Given the description of an element on the screen output the (x, y) to click on. 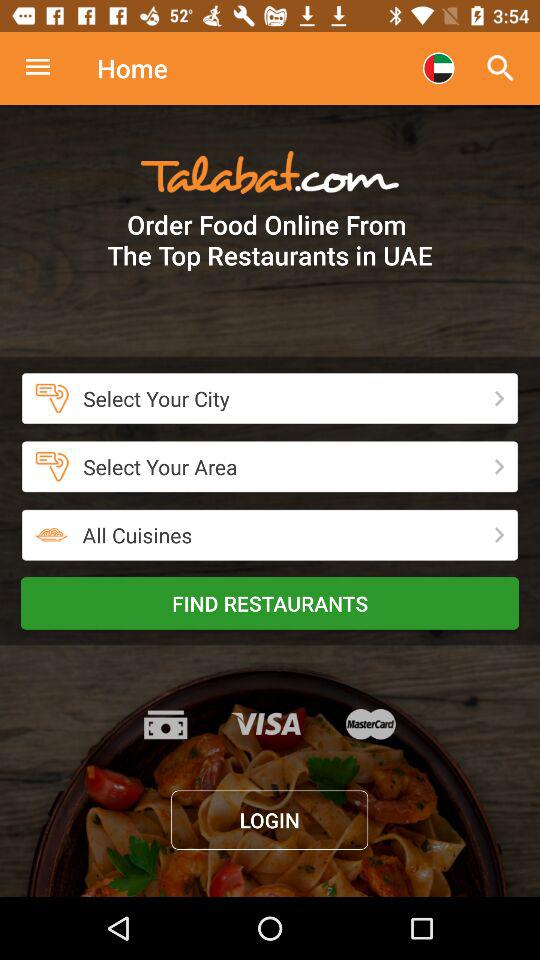
select the text  icon above the login (269, 724)
